Given the description of an element on the screen output the (x, y) to click on. 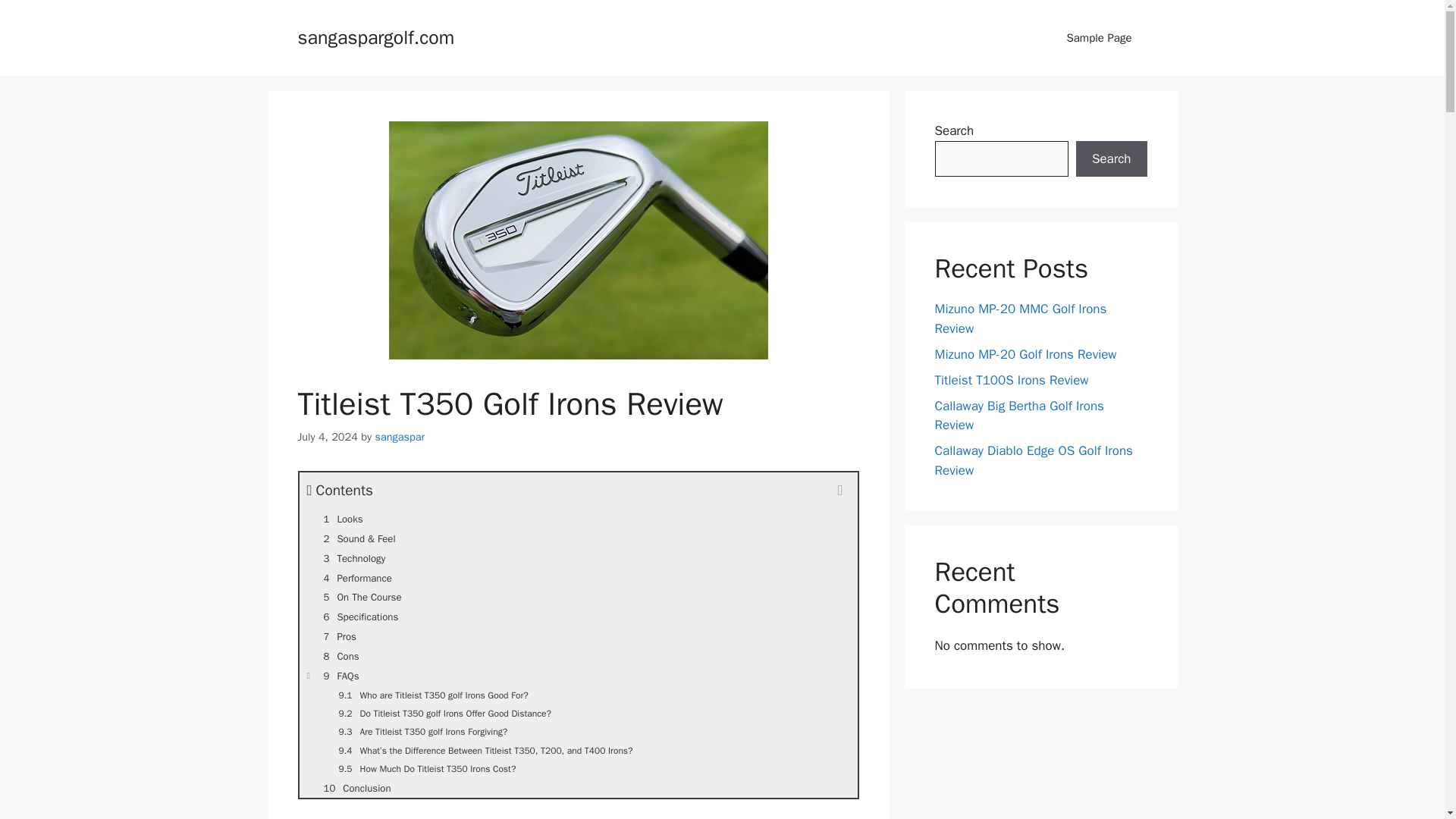
sangaspar (399, 436)
Looks (577, 519)
sangaspargolf.com (375, 37)
Cons (577, 656)
Do Titleist T350 golf Irons Offer Good Distance? (577, 713)
Search (1111, 158)
FAQs (577, 676)
On The Course (577, 597)
Sample Page (1099, 37)
Specifications (577, 617)
